Given the description of an element on the screen output the (x, y) to click on. 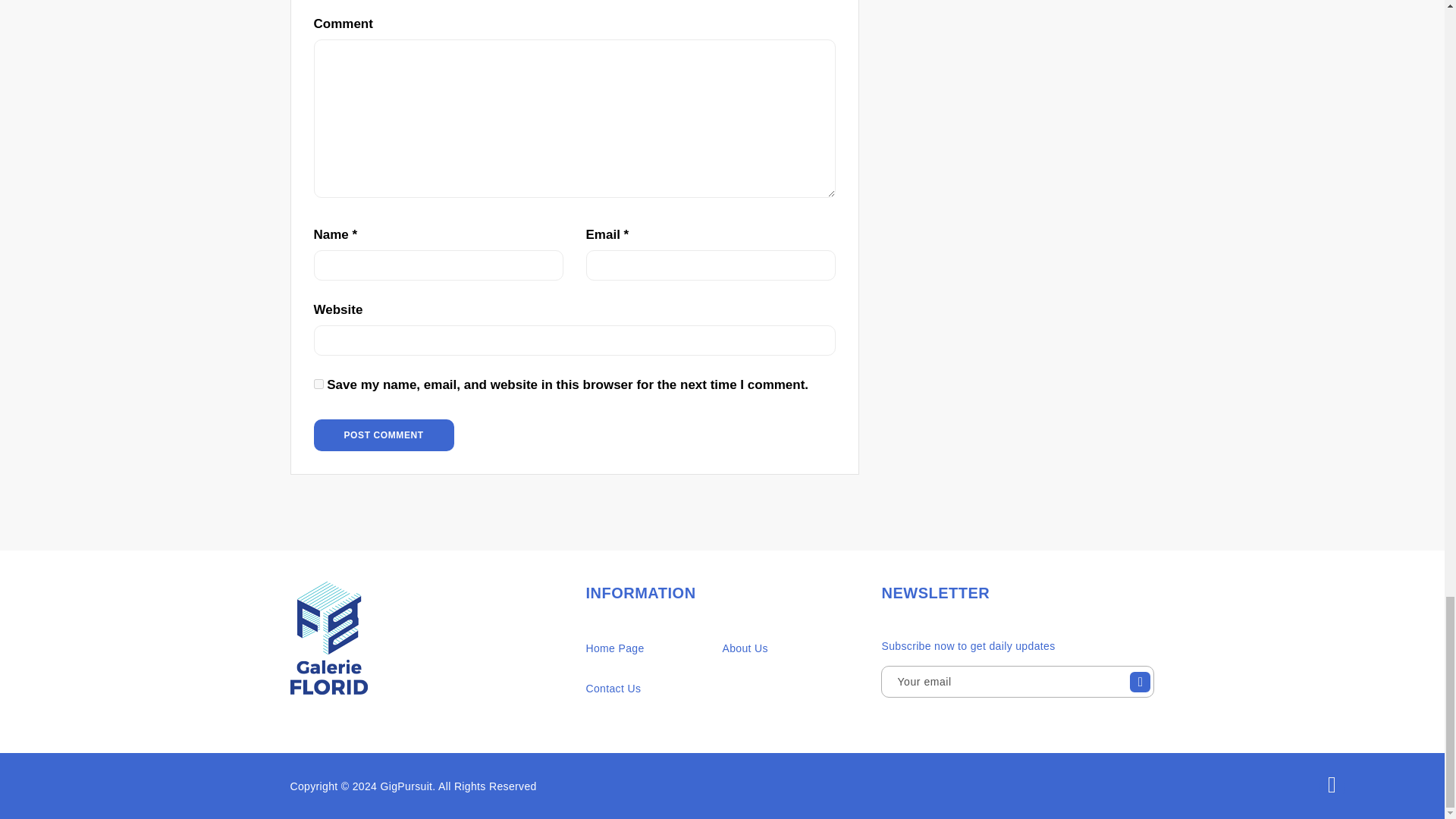
Post Comment (384, 435)
Back To Top (1332, 786)
Contact Us (612, 688)
Post Comment (384, 435)
About Us (744, 648)
yes (318, 384)
Home Page (614, 648)
Sign up (1139, 685)
